Given the description of an element on the screen output the (x, y) to click on. 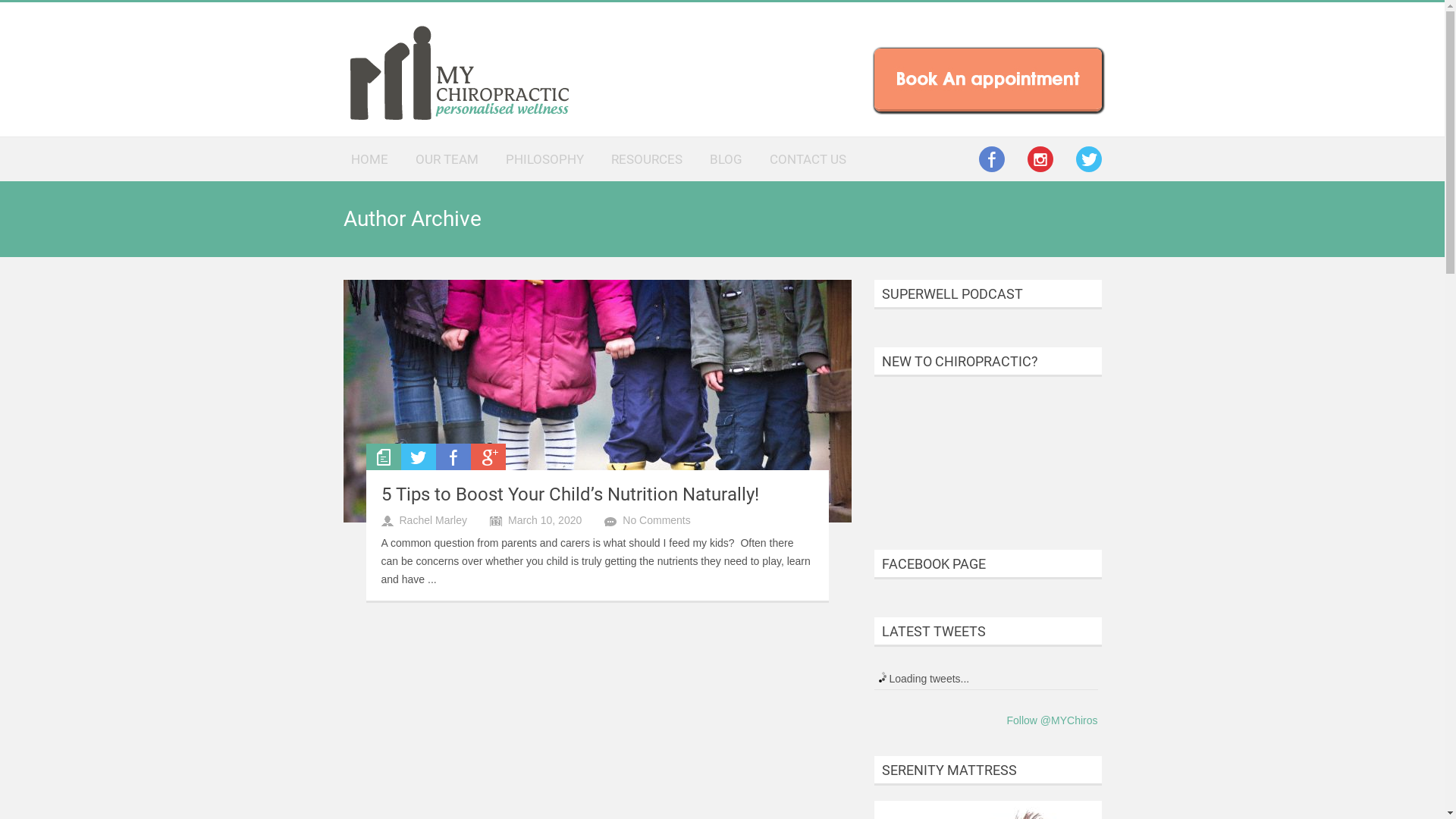
PHILOSOPHY Element type: text (543, 157)
Retweet Element type: text (417, 456)
PINTEREST Element type: text (1039, 159)
CONTACT US Element type: text (807, 157)
Post Type Element type: text (382, 456)
Plus One Element type: text (487, 456)
TWITTER Element type: text (1088, 159)
RESOURCES Element type: text (646, 157)
OUR TEAM Element type: text (446, 157)
BLOG Element type: text (725, 157)
No Comments Element type: text (656, 520)
HOME Element type: text (368, 157)
Follow @MYChiros Element type: text (1051, 720)
Share Element type: text (452, 456)
FACEBOOK Element type: text (991, 159)
